Given the description of an element on the screen output the (x, y) to click on. 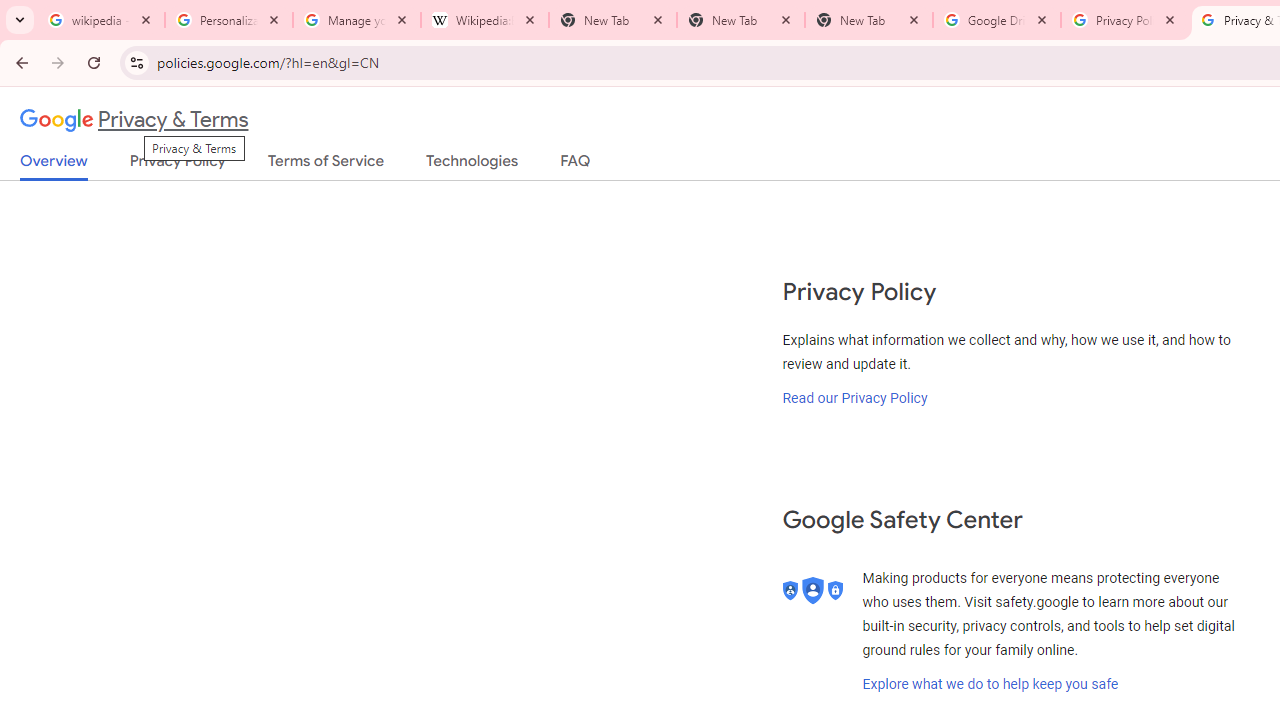
Personalization & Google Search results - Google Search Help (229, 20)
New Tab (741, 20)
Explore what we do to help keep you safe (989, 683)
